Given the description of an element on the screen output the (x, y) to click on. 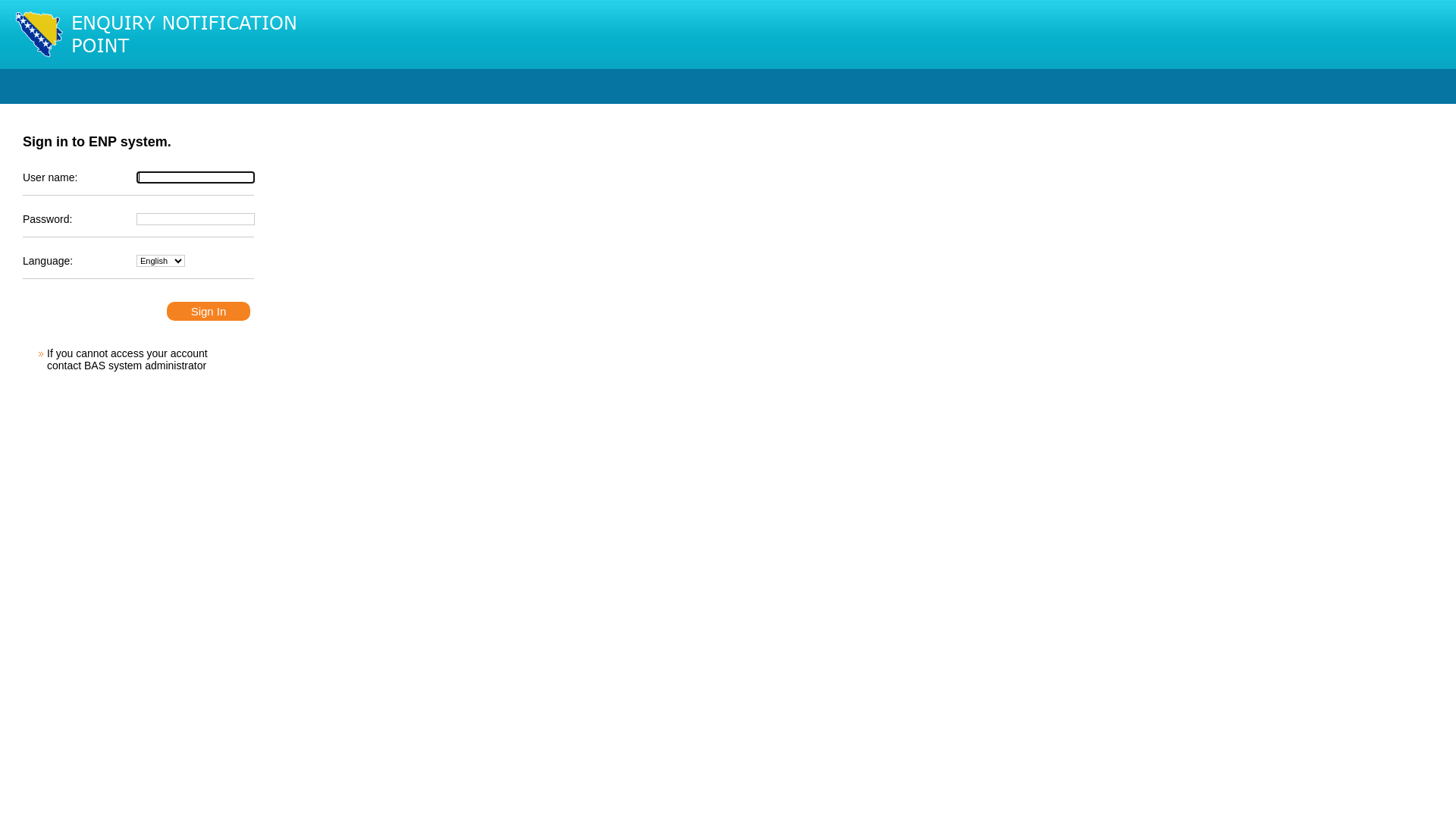
Sign In Element type: text (208, 310)
